Given the description of an element on the screen output the (x, y) to click on. 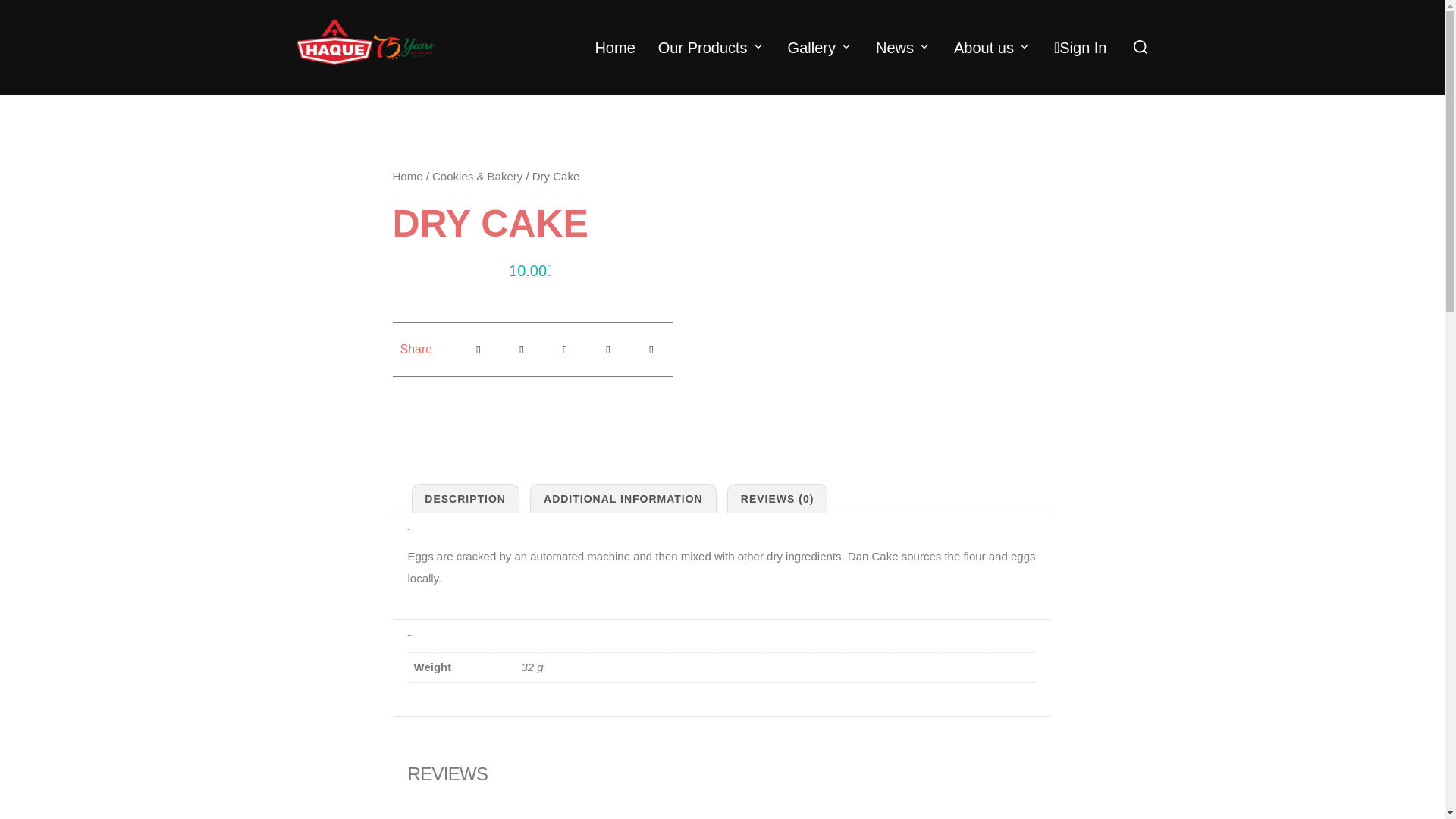
Gallery (820, 47)
Home (614, 47)
Our Products (711, 47)
